Given the description of an element on the screen output the (x, y) to click on. 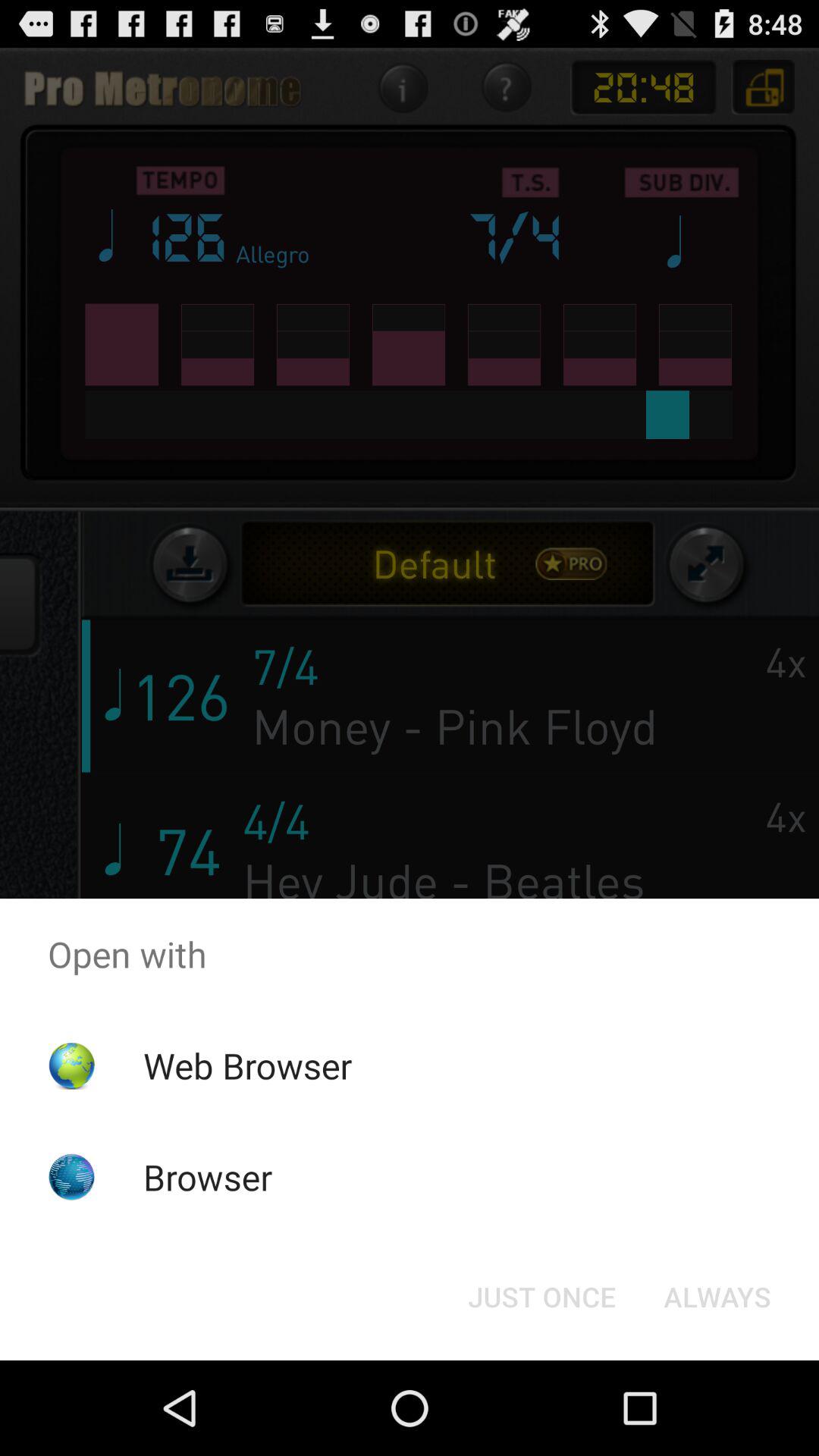
choose just once (541, 1296)
